Given the description of an element on the screen output the (x, y) to click on. 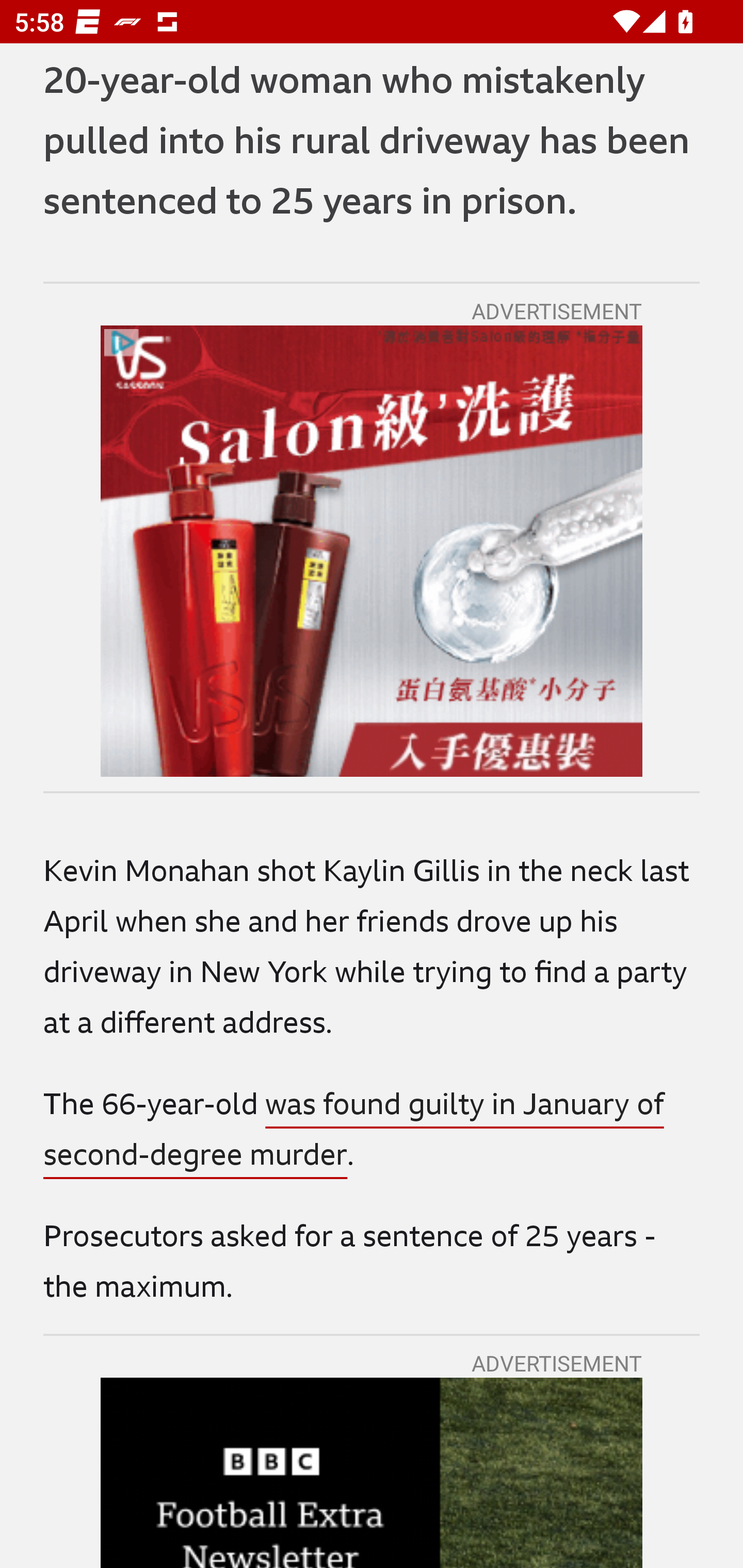
dqqka64g_300x250 (371, 551)
dqqka64g_300x250 (371, 551)
